Given the description of an element on the screen output the (x, y) to click on. 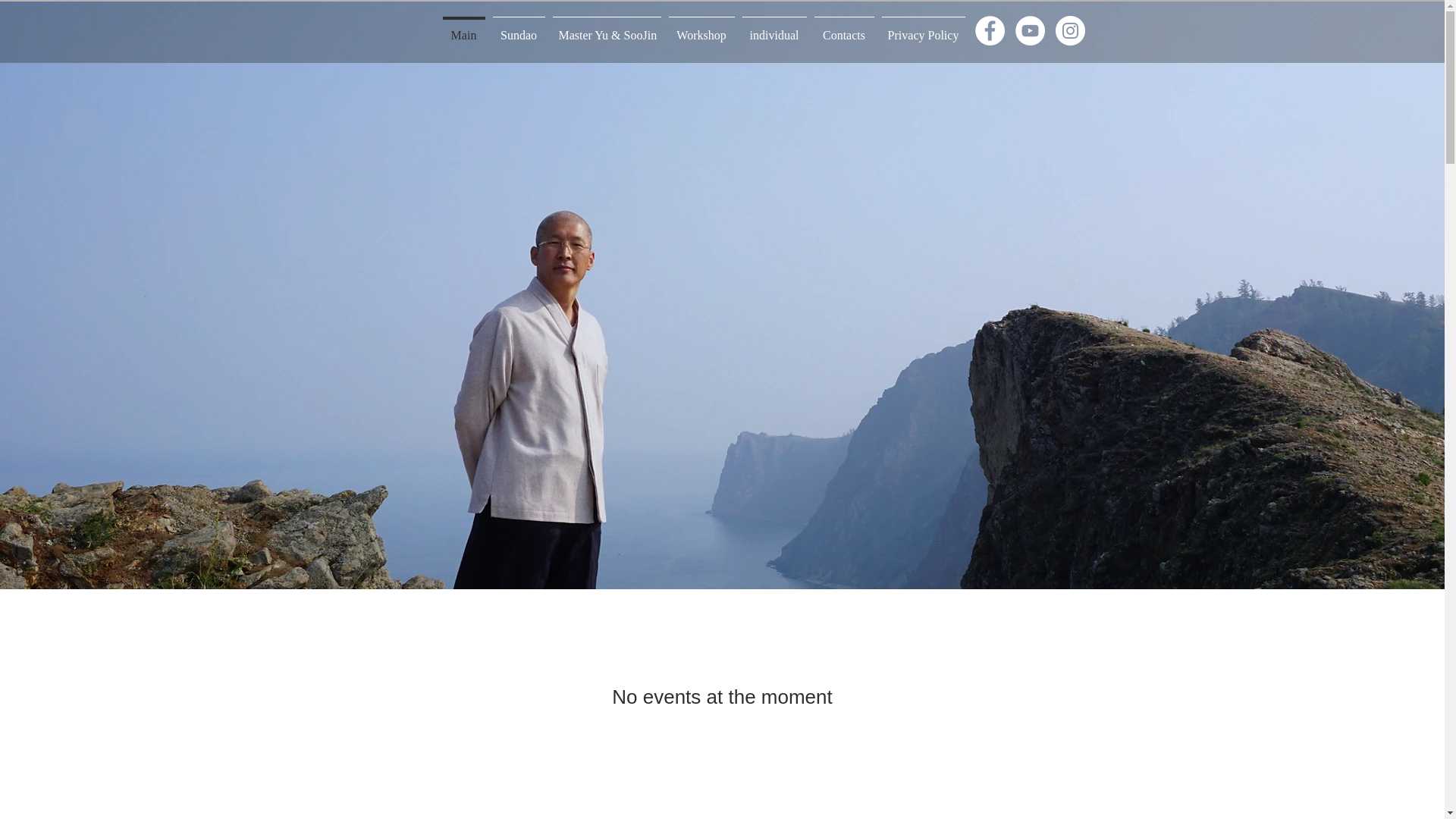
Workshop (700, 28)
Privacy Policy (923, 28)
Main (462, 28)
Sundao (517, 28)
individual (774, 28)
Contacts (843, 28)
